Given the description of an element on the screen output the (x, y) to click on. 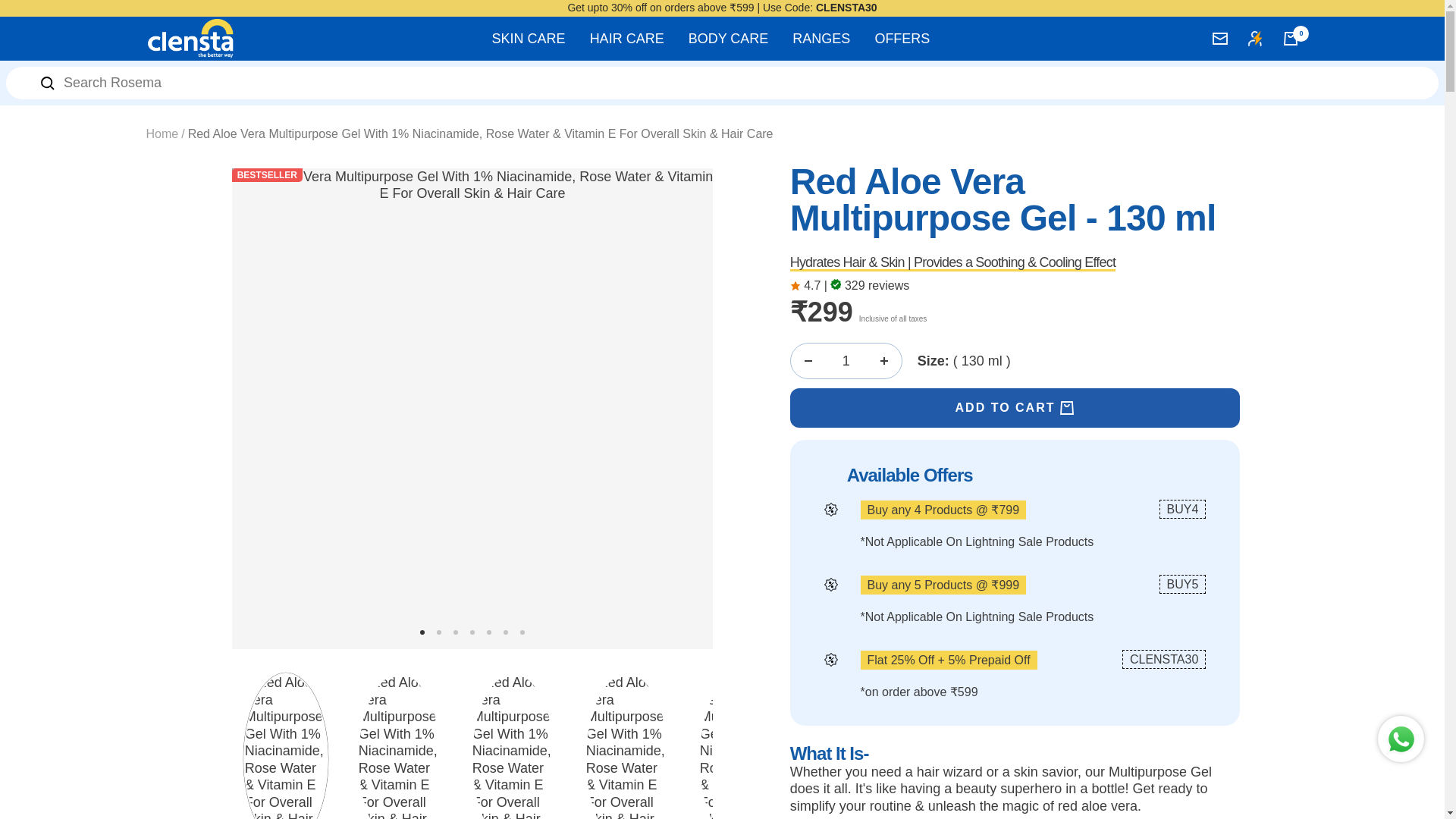
Newsletter (1219, 38)
ADD TO CART (1015, 407)
0 (1290, 38)
Increase quantity (883, 360)
Home (161, 133)
SKIN CARE (529, 38)
HAIR CARE (626, 38)
BODY CARE (728, 38)
OFFERS (902, 38)
RANGES (821, 38)
Clensta (188, 38)
Decrease quantity (807, 360)
1 (845, 360)
